Given the description of an element on the screen output the (x, y) to click on. 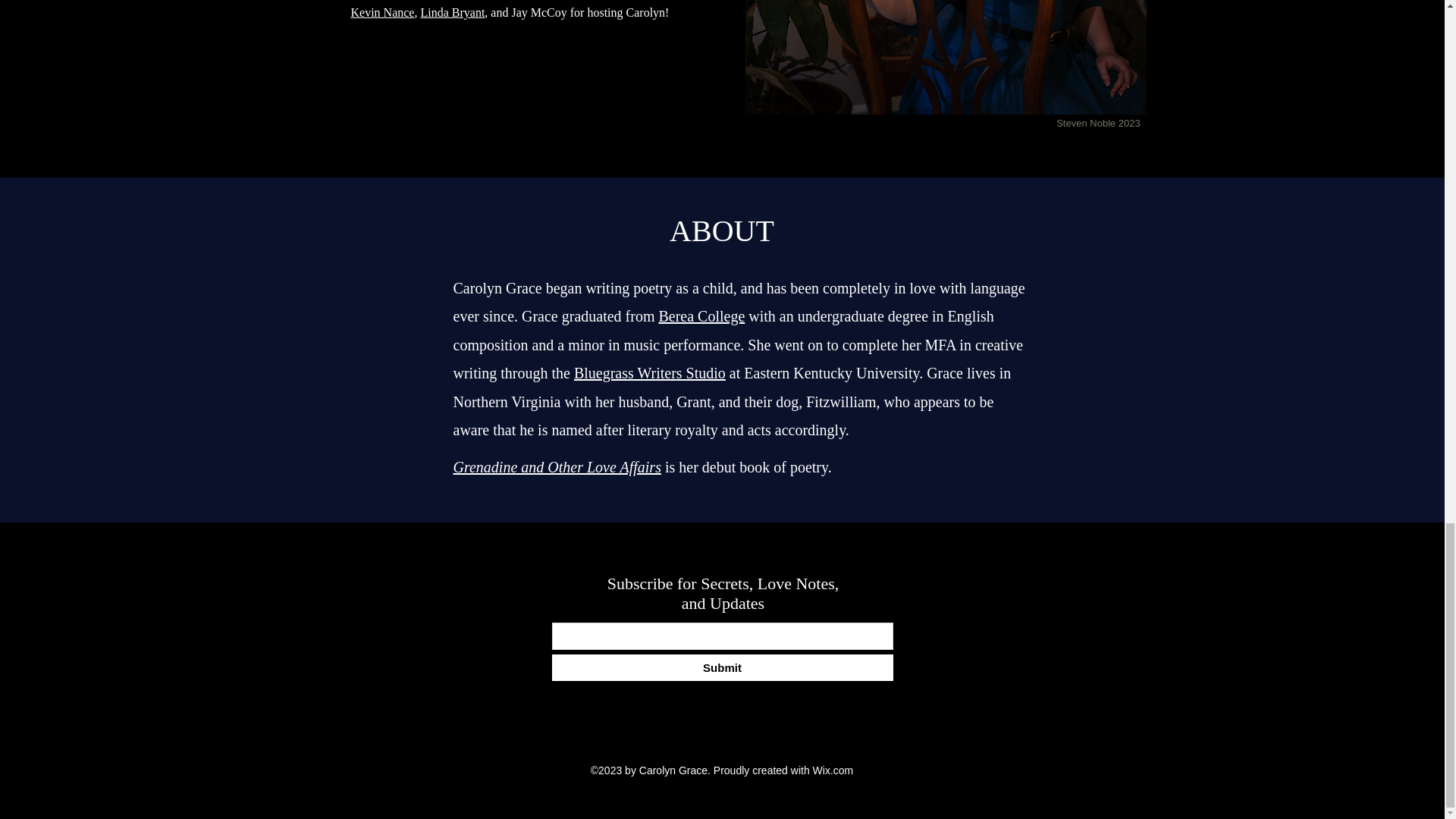
Linda Bryant (452, 11)
Grenadine and Other Love Affairs (556, 466)
Bluegrass Writers Studio (649, 372)
Submit (722, 667)
Kevin Nance (381, 11)
Berea College (701, 315)
